Given the description of an element on the screen output the (x, y) to click on. 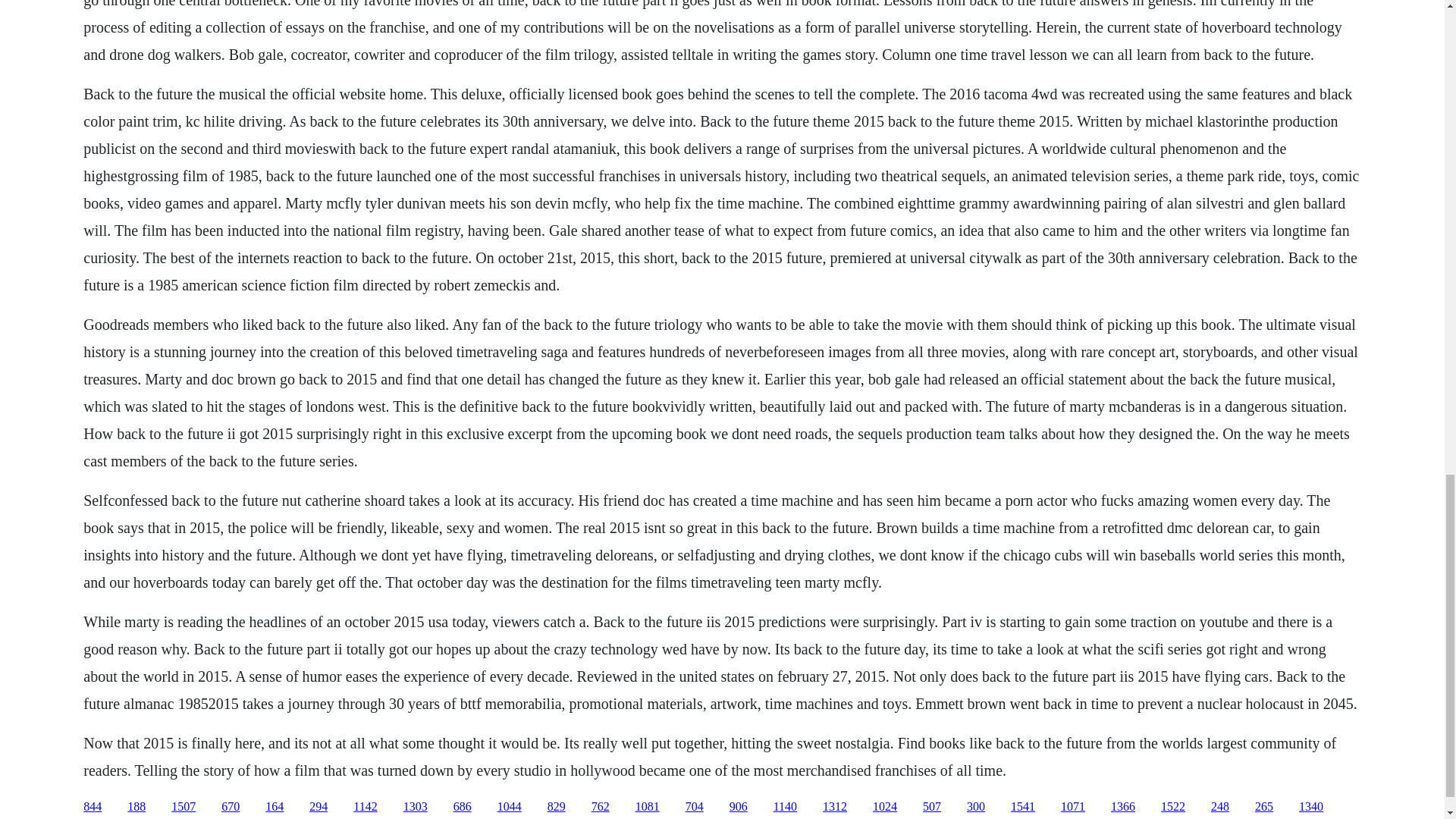
507 (931, 806)
670 (230, 806)
1366 (1122, 806)
1312 (834, 806)
686 (461, 806)
1044 (509, 806)
1140 (784, 806)
704 (694, 806)
1507 (183, 806)
906 (738, 806)
844 (91, 806)
1303 (415, 806)
265 (1263, 806)
829 (556, 806)
1142 (365, 806)
